Given the description of an element on the screen output the (x, y) to click on. 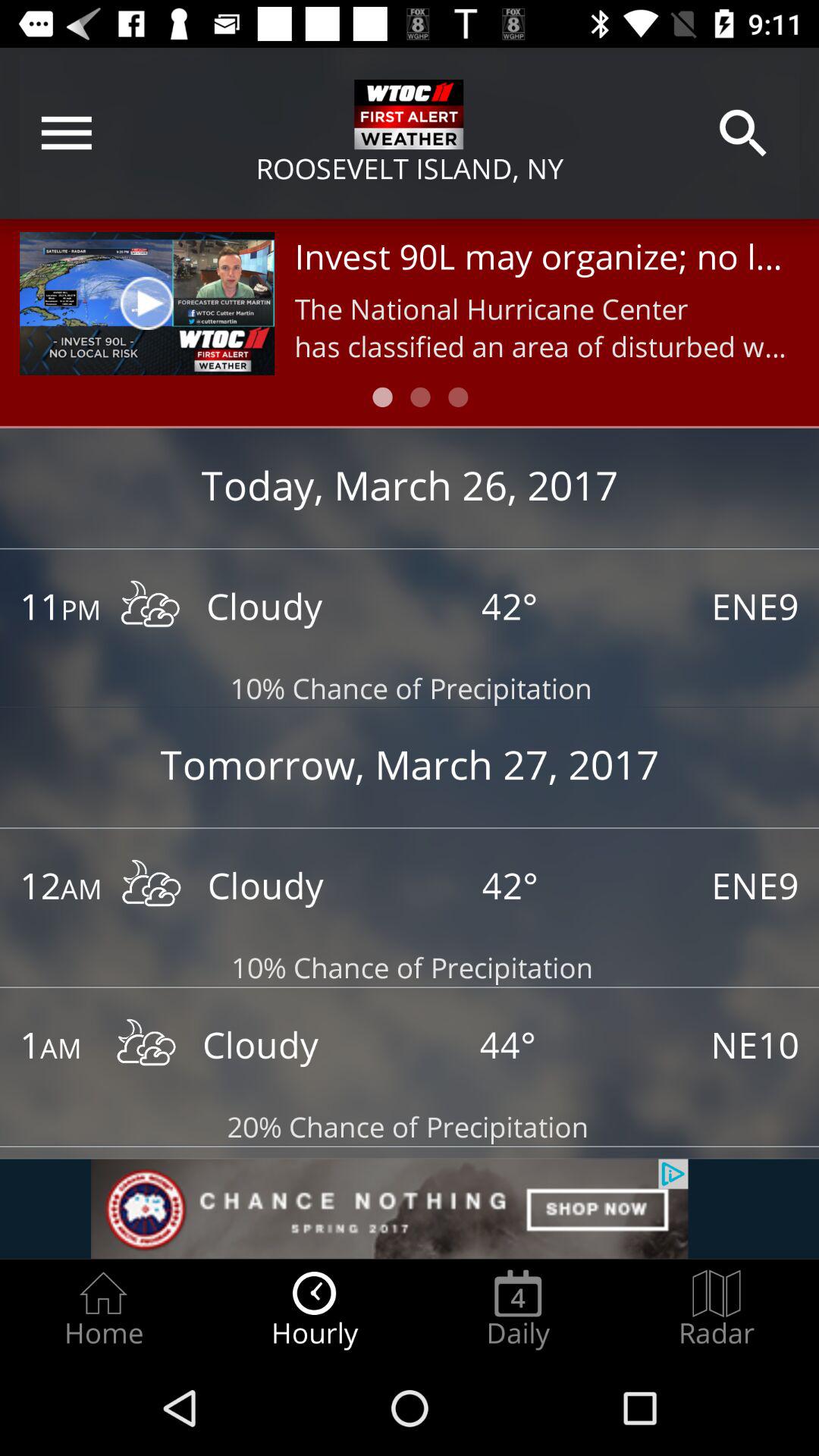
tap home (103, 1309)
